Given the description of an element on the screen output the (x, y) to click on. 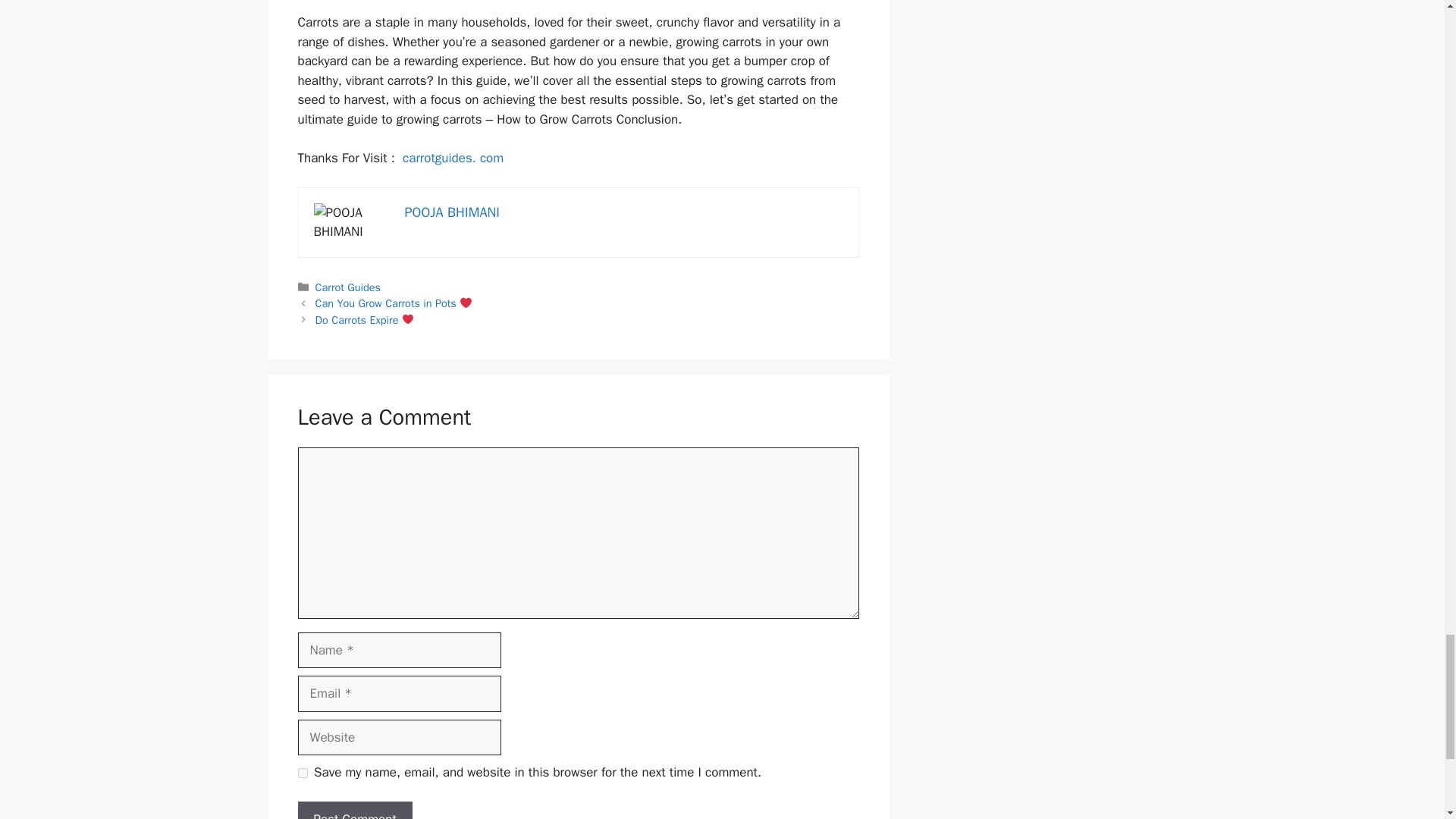
carrotguides. com (453, 157)
POOJA BHIMANI (452, 211)
yes (302, 773)
Can You Grow Carrots in Pots (393, 303)
Post Comment (354, 810)
Carrot Guides (347, 287)
Do Carrots Expire (364, 319)
Post Comment (354, 810)
